Given the description of an element on the screen output the (x, y) to click on. 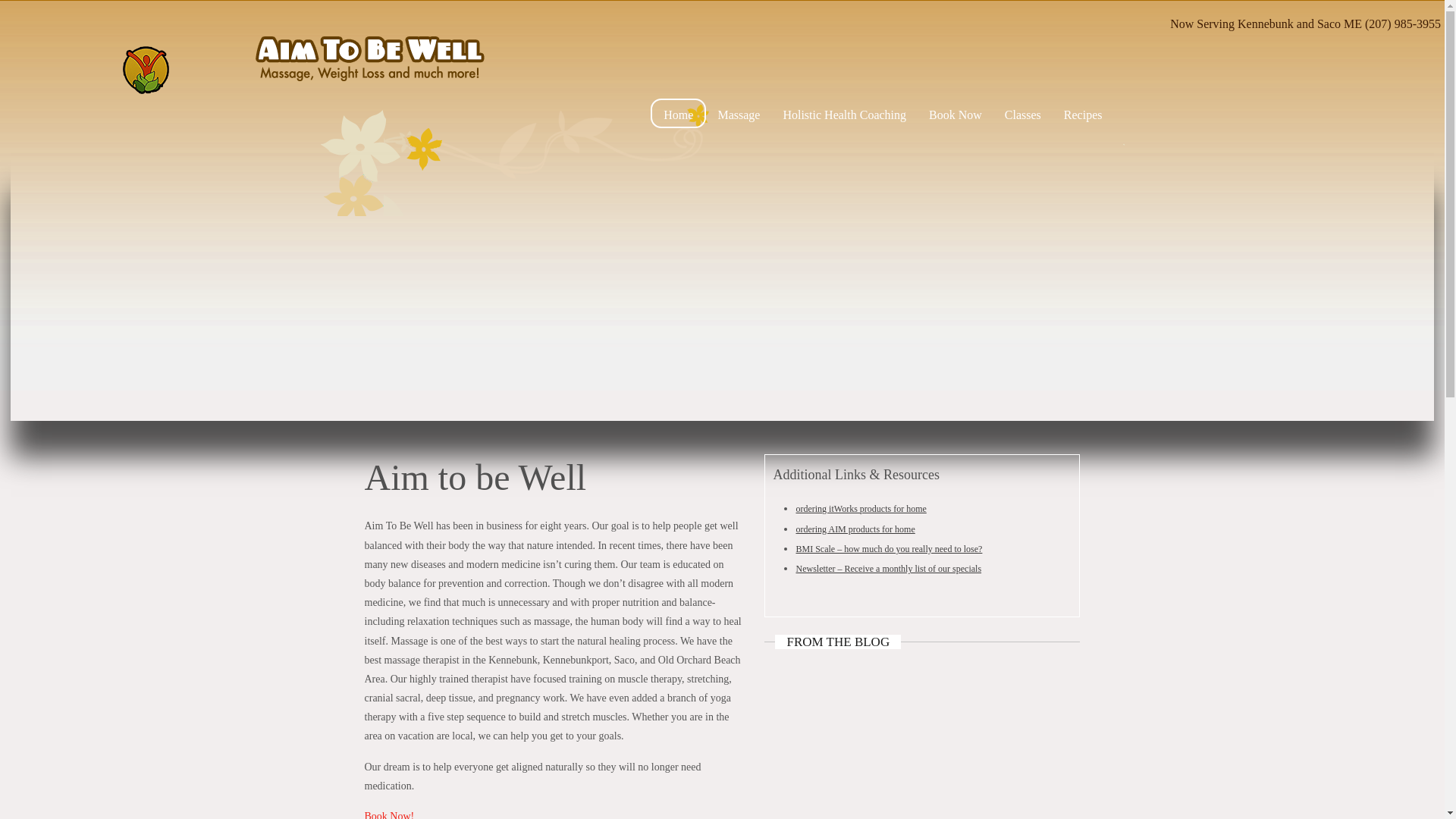
ordering itWorks products for home (860, 508)
ordering AIM products for home (854, 529)
Book Now! (388, 814)
Massage (738, 114)
Classes (1022, 114)
Book Now (954, 114)
Holistic Health Coaching (844, 114)
Recipes (1082, 114)
Home (678, 112)
